Given the description of an element on the screen output the (x, y) to click on. 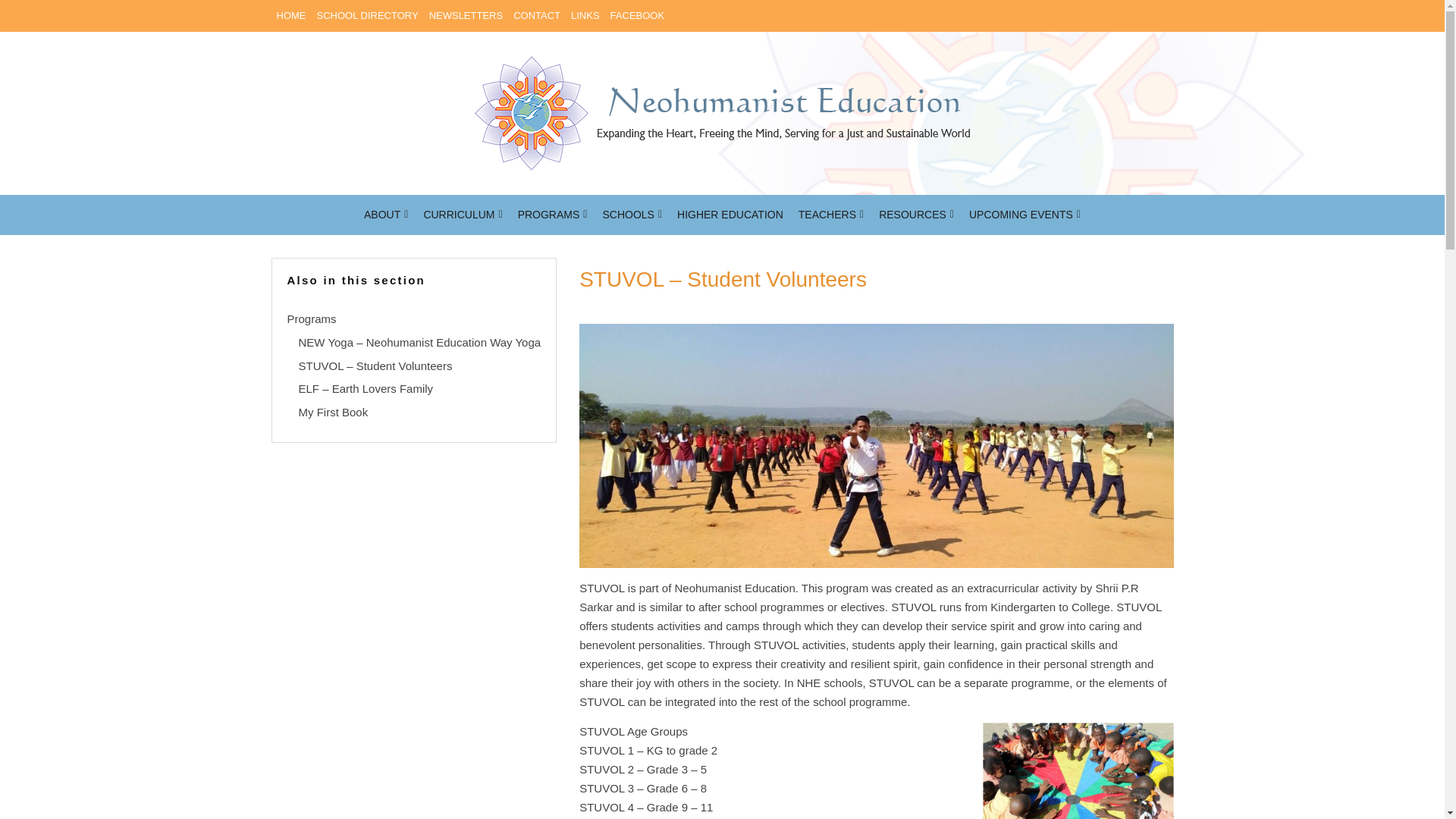
ABOUT (385, 214)
LINKS (585, 15)
SCHOOL DIRECTORY (367, 15)
PROGRAMS (553, 214)
SCHOOLS (631, 214)
CONTACT (537, 15)
NEWSLETTERS (465, 15)
CURRICULUM (461, 214)
HOME (290, 15)
FACEBOOK (637, 15)
